Given the description of an element on the screen output the (x, y) to click on. 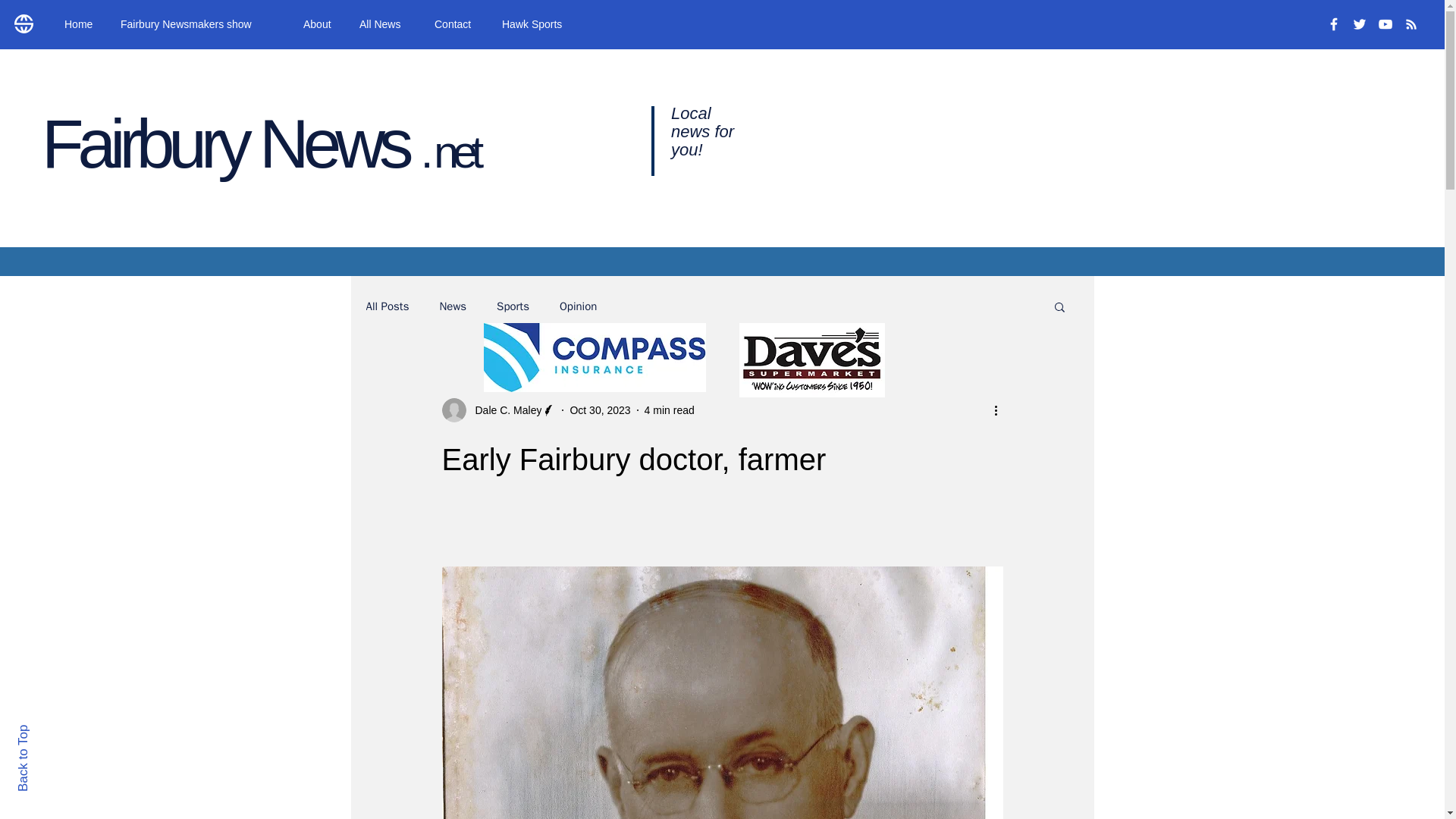
Contact (456, 24)
Opinion (577, 305)
4 min read (669, 409)
All News (385, 24)
News (452, 305)
Oct 30, 2023 (599, 409)
Dale C. Maley (503, 409)
Home (80, 24)
About (319, 24)
Back to Top (49, 730)
